Given the description of an element on the screen output the (x, y) to click on. 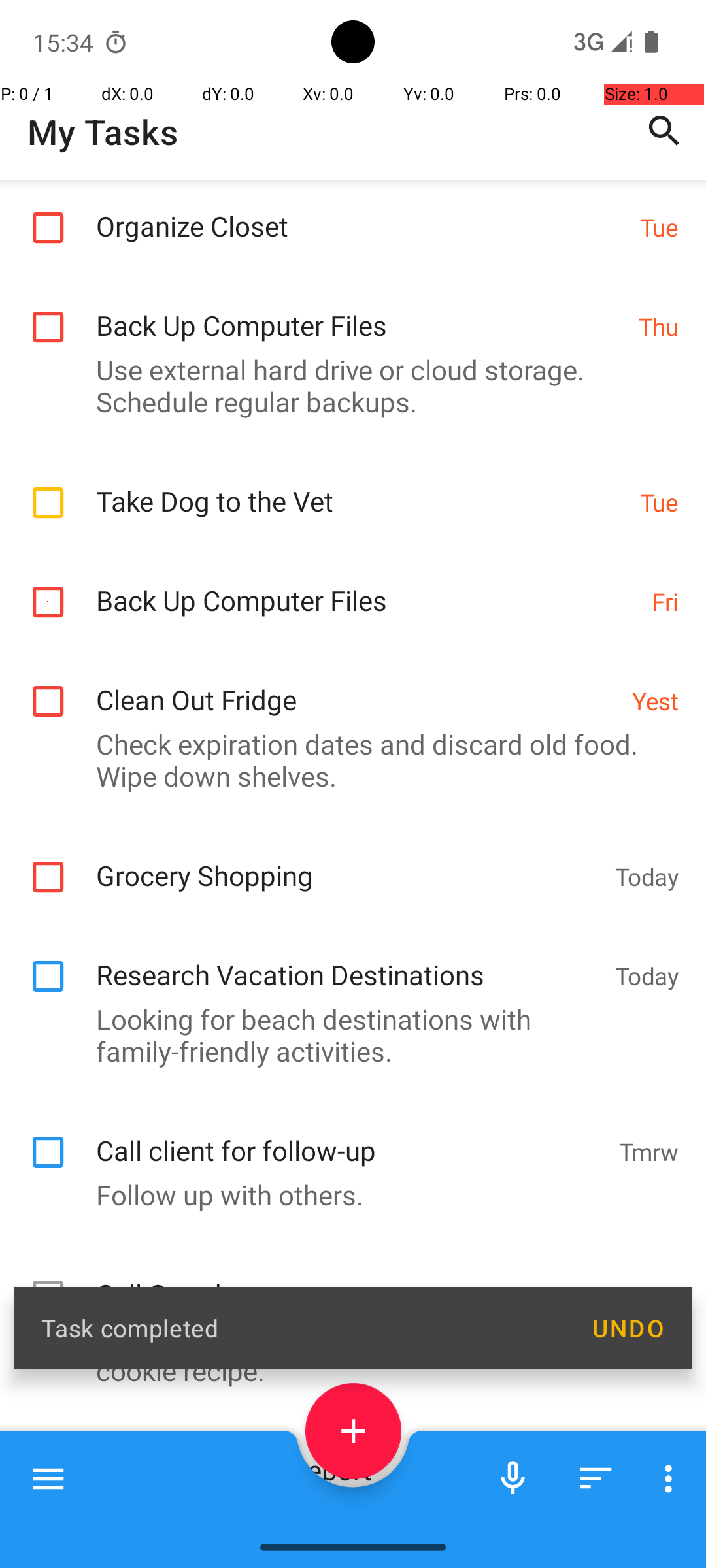
Task completed Element type: android.widget.TextView (302, 1327)
UNDO Element type: android.widget.Button (627, 1328)
Call client for follow-up Element type: android.widget.TextView (350, 1255)
Follow up with others. Element type: android.widget.TextView (346, 1313)
